Given the description of an element on the screen output the (x, y) to click on. 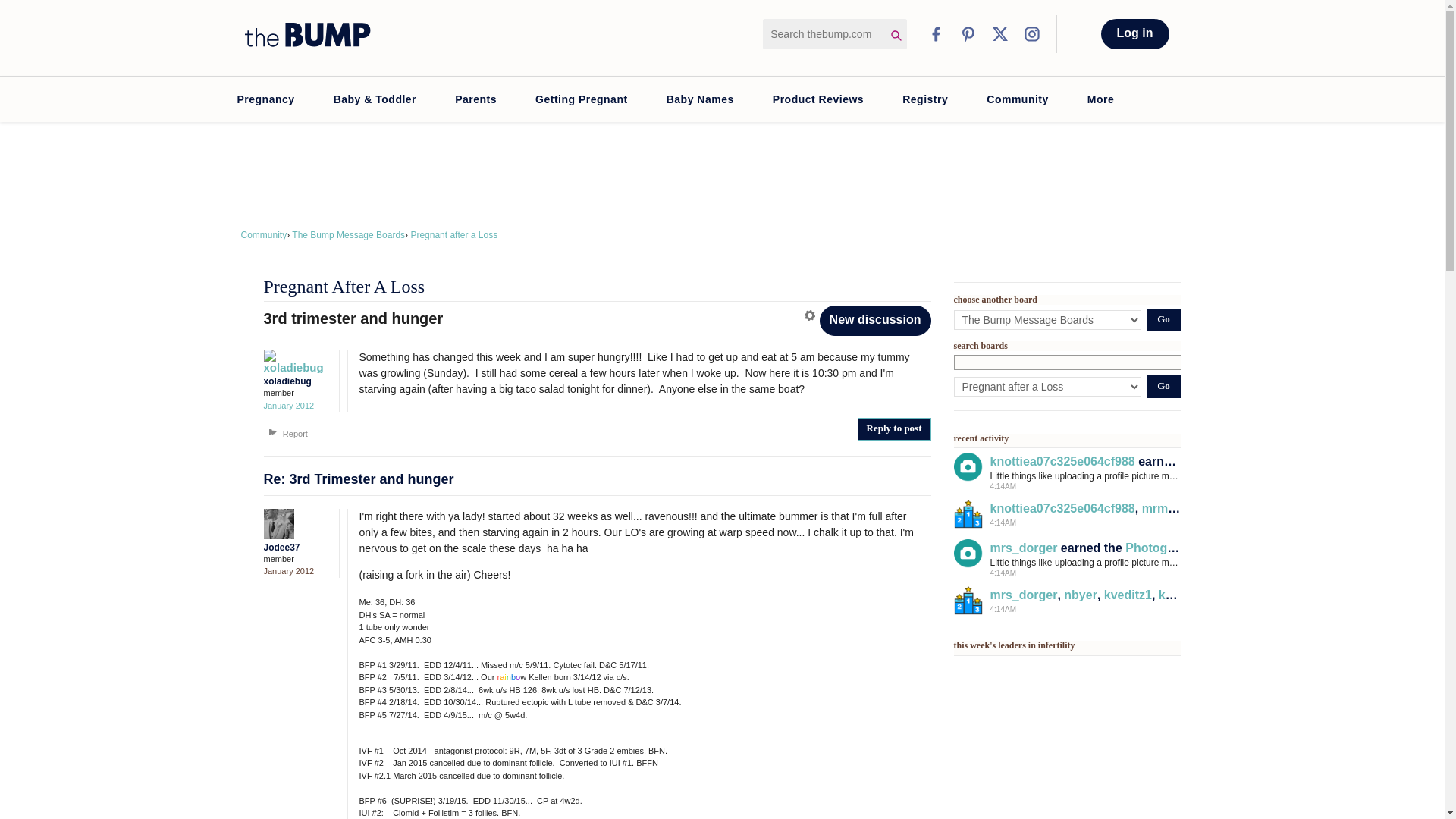
member (297, 392)
Go (1163, 319)
Options (811, 315)
January 30, 2012 10:32PM (288, 570)
Log in (1134, 33)
member (297, 558)
January 30, 2012 10:27PM (288, 405)
Pregnancy (264, 99)
xoladiebug (293, 361)
Go (1163, 386)
